Given the description of an element on the screen output the (x, y) to click on. 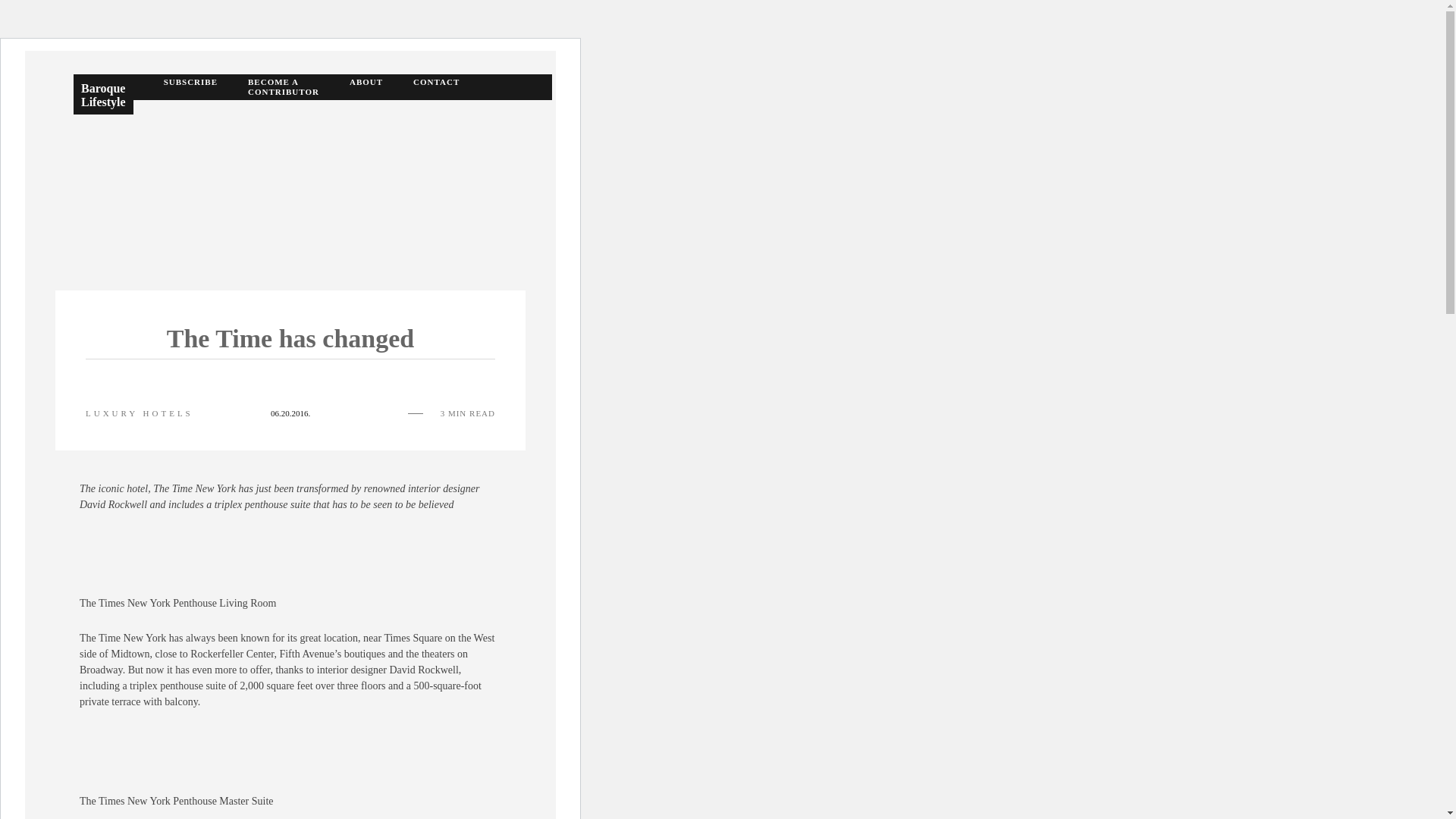
SUBSCRIBE (189, 86)
CONTACT (436, 86)
LUXURY HOTELS (139, 413)
ABOUT (365, 86)
Baroque Lifestyle (103, 94)
BECOME A CONTRIBUTOR (282, 86)
